Given the description of an element on the screen output the (x, y) to click on. 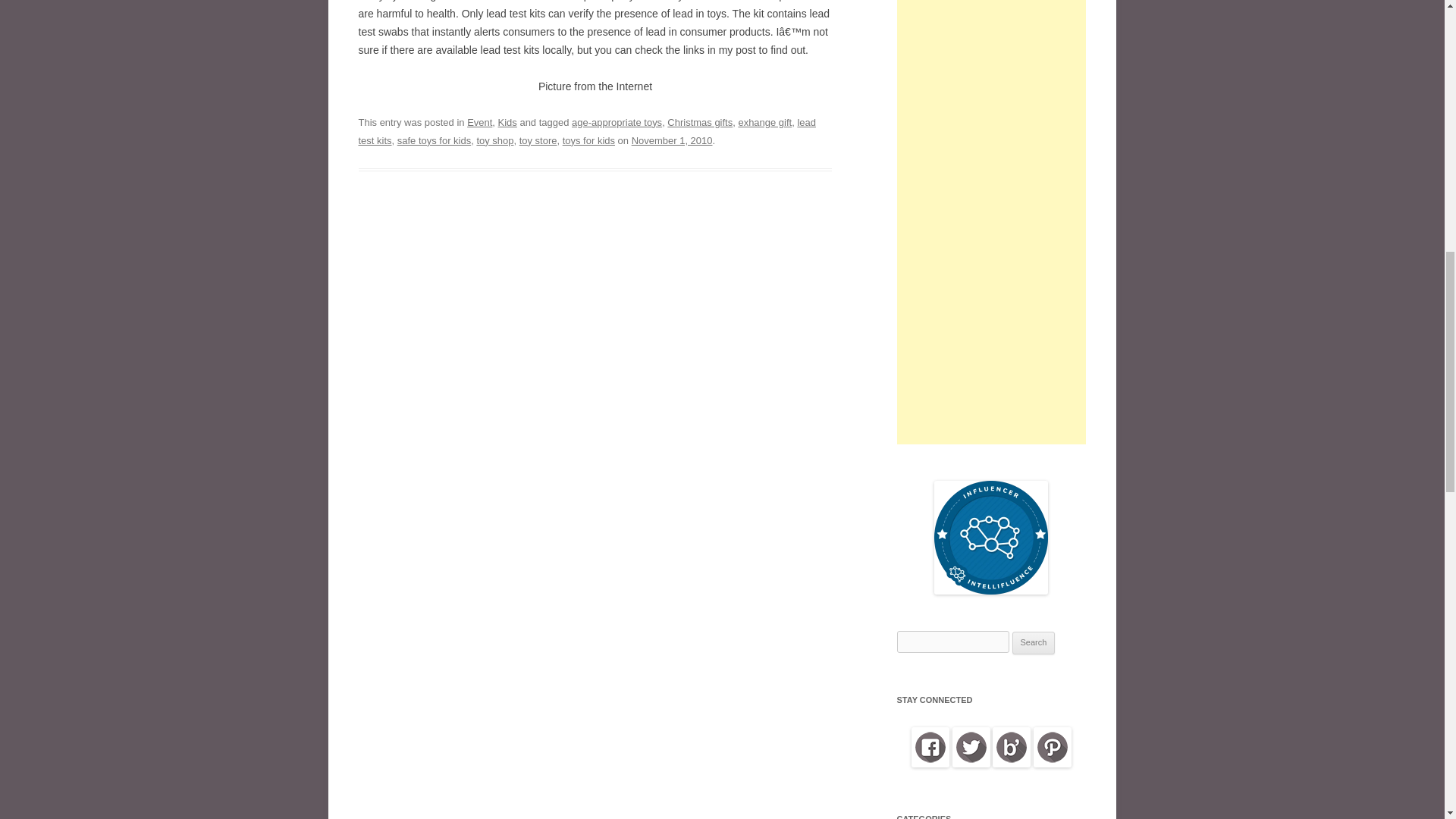
toys for kids (588, 140)
Kids (506, 122)
toy shop (494, 140)
Event (479, 122)
November 1, 2010 (672, 140)
age-appropriate toys (617, 122)
Christmas gifts (699, 122)
exhange gift (765, 122)
lead test kits (586, 131)
toy store (538, 140)
safe toys for kids (433, 140)
Search (1033, 642)
Search (1033, 642)
3:37 pm (672, 140)
